Given the description of an element on the screen output the (x, y) to click on. 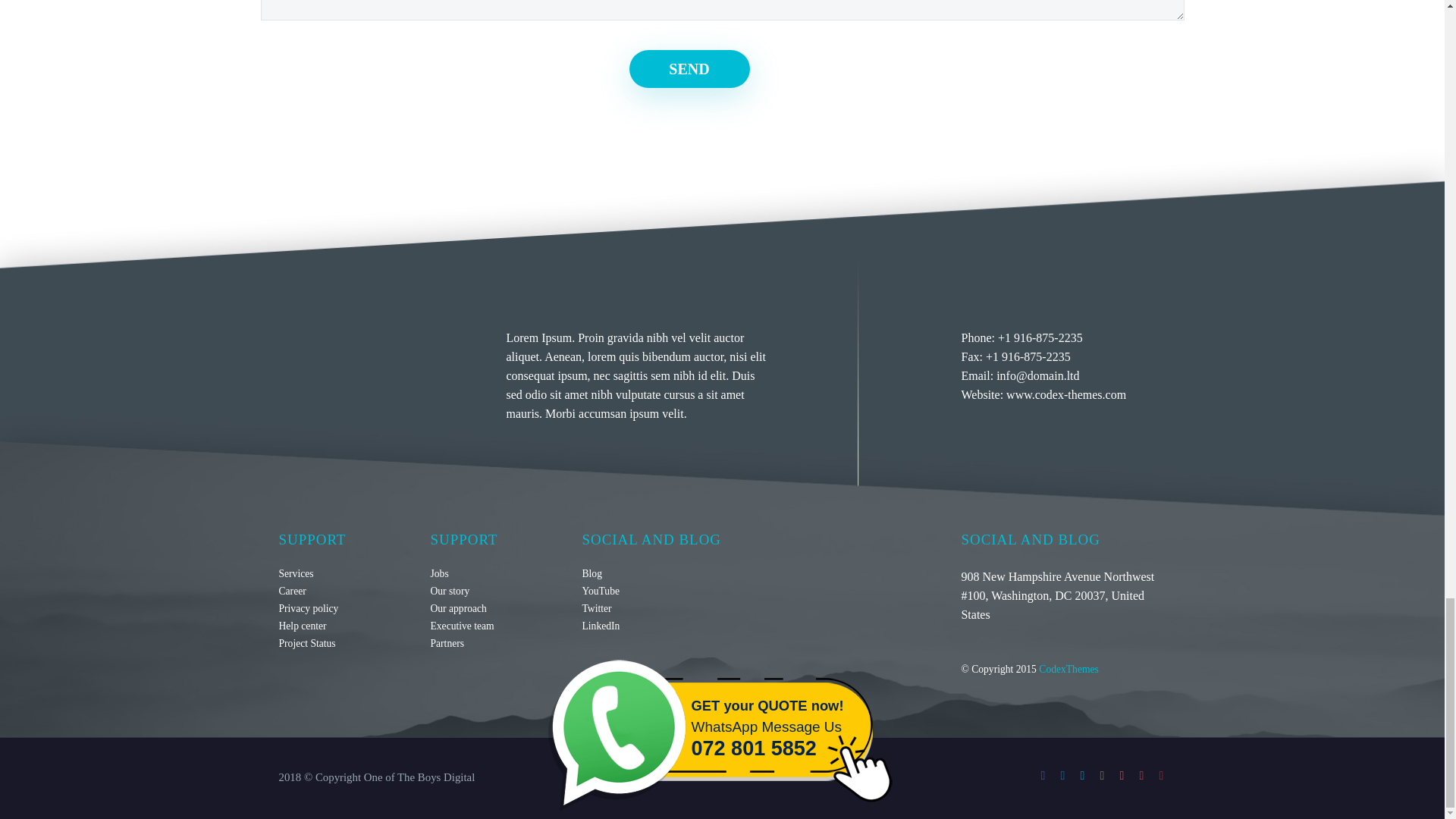
LinkedIn (1062, 775)
Send (688, 68)
Instagram (1102, 775)
CodexThemes (1069, 668)
Google Plus (1141, 775)
LinkedIn (601, 625)
Pinterest (1122, 775)
Twitter (1083, 775)
Facebook (1042, 775)
YouTube (1161, 775)
